Given the description of an element on the screen output the (x, y) to click on. 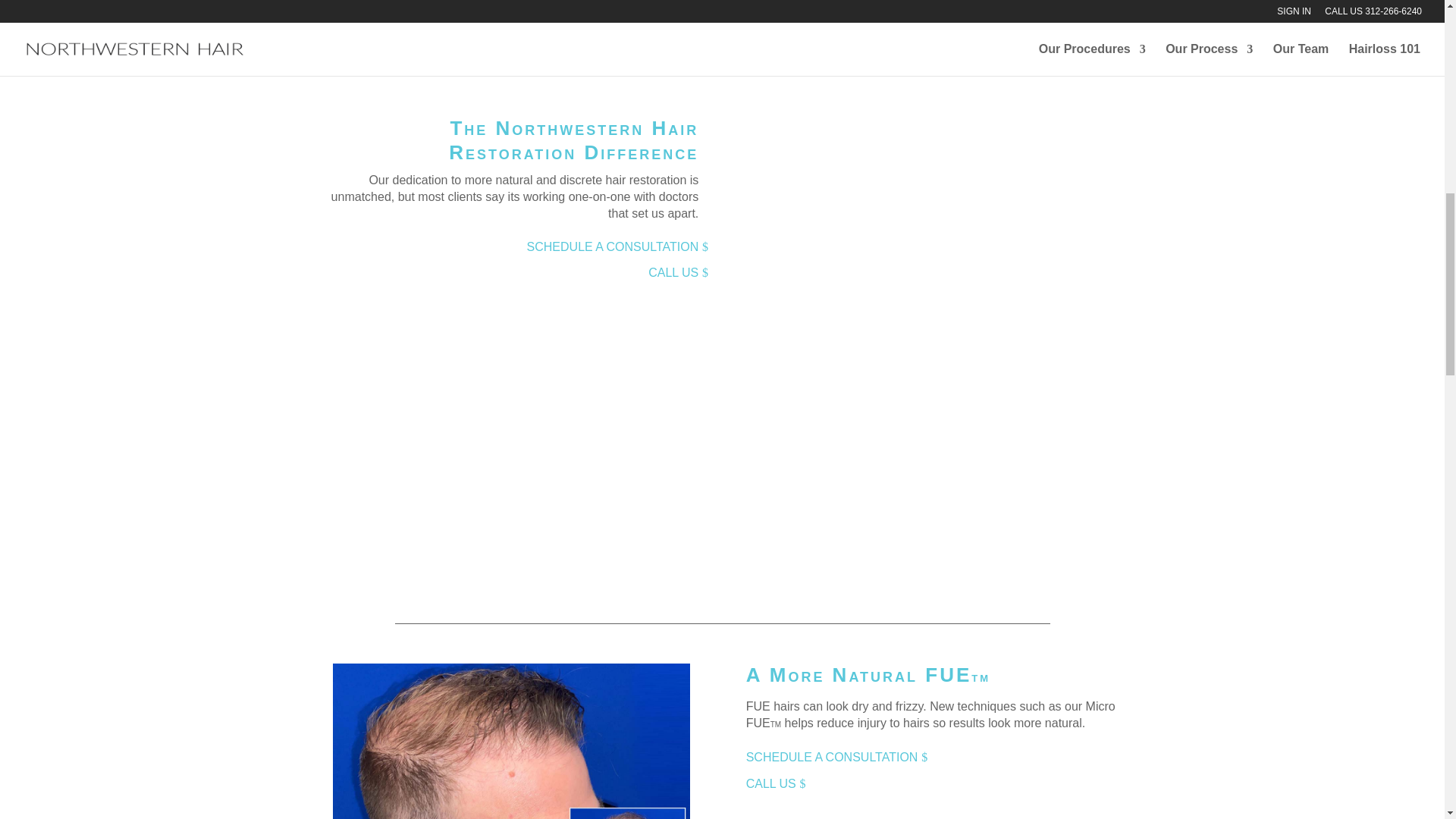
SCHEDULE A CONSULTATION (832, 757)
CALL US (673, 272)
results no shave fue hair replacement chicago IL (511, 741)
SCHEDULE A CONSULTATION (612, 246)
CALL US (771, 783)
